Given the description of an element on the screen output the (x, y) to click on. 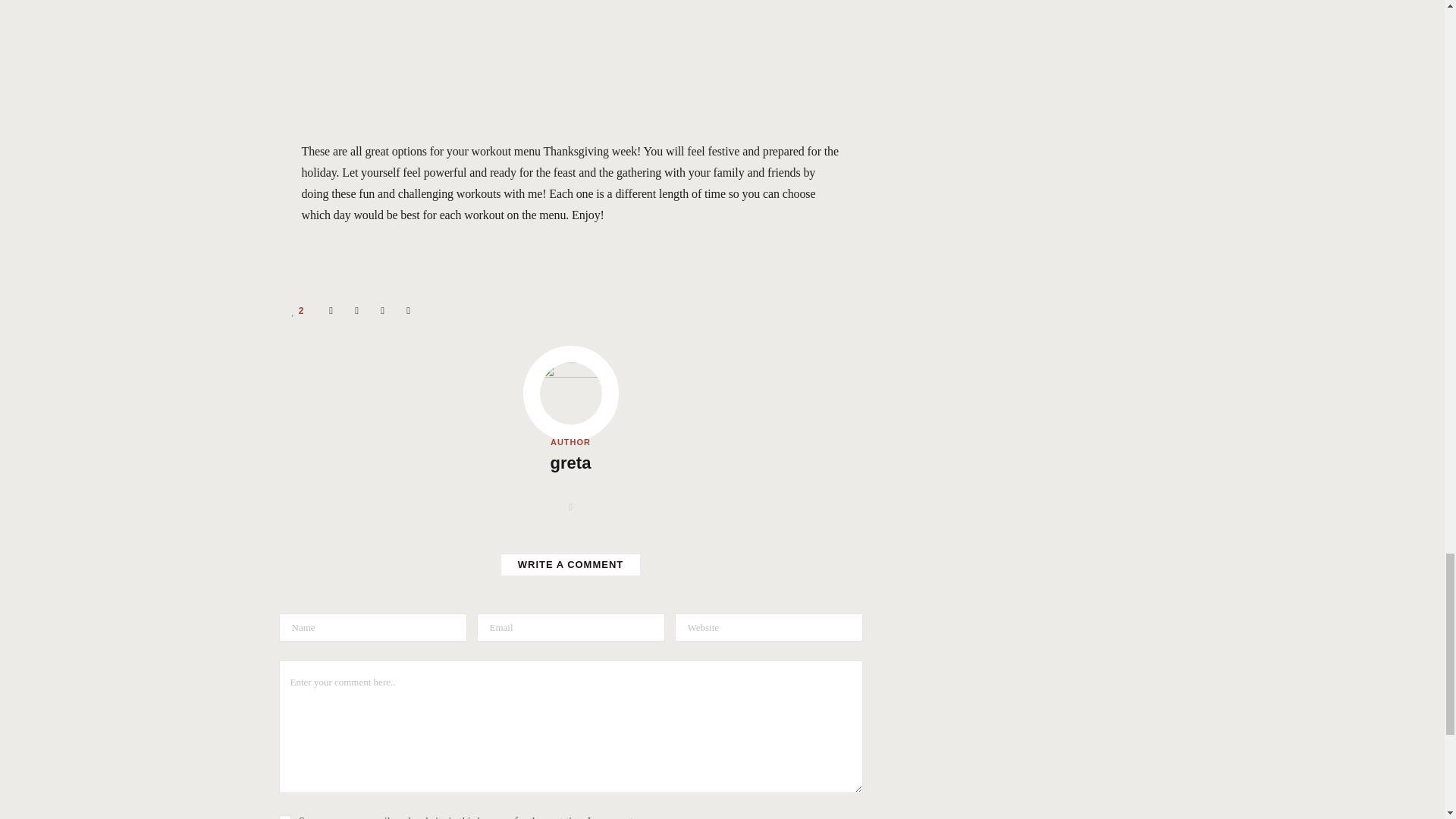
Share on Facebook (331, 309)
yes (285, 816)
2 (298, 309)
Pinterest (382, 309)
BIG THANKS - 8 min ab workout video (570, 57)
Share on Twitter (357, 309)
greta (570, 463)
